Given the description of an element on the screen output the (x, y) to click on. 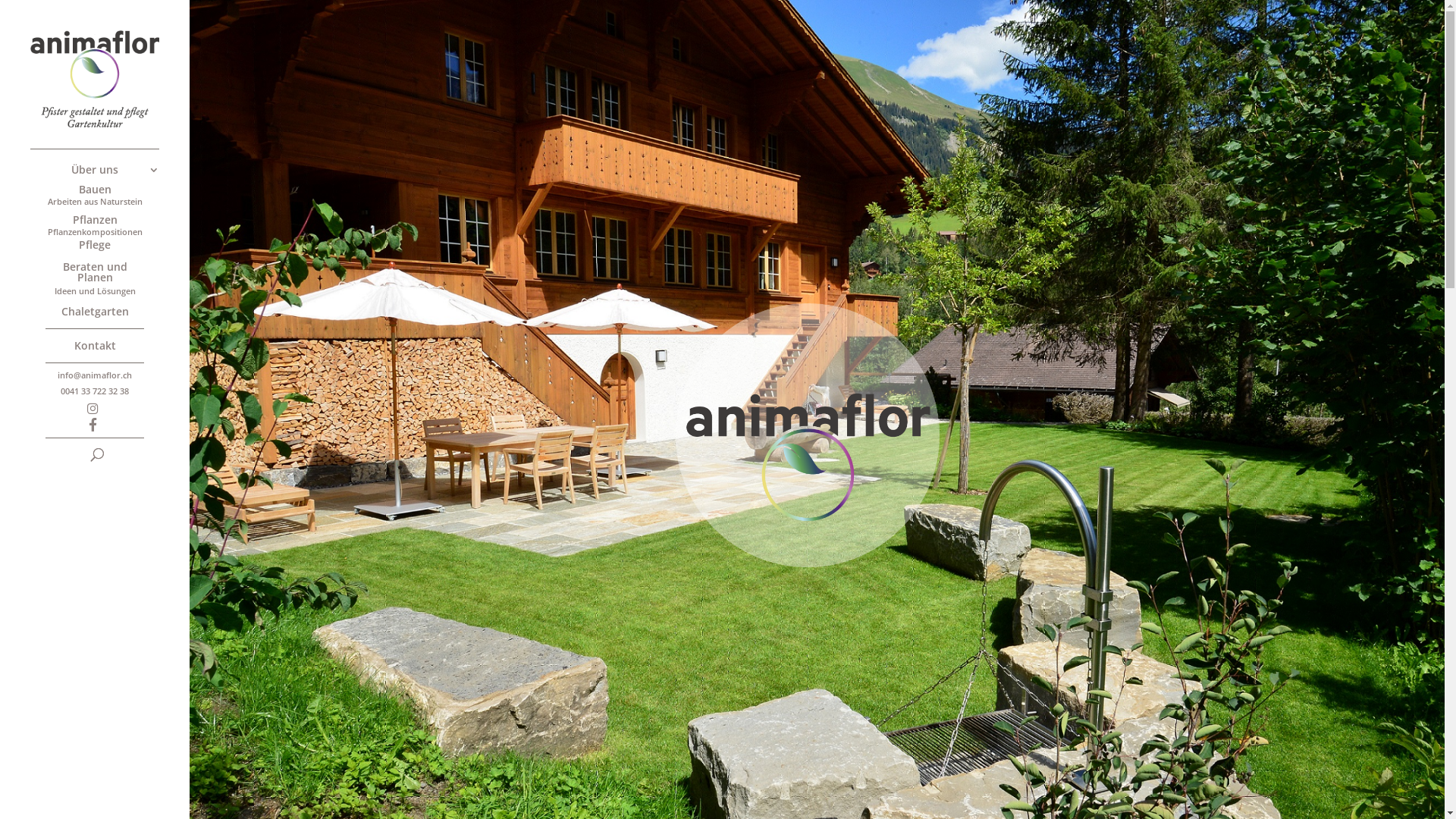
Chaletgarten Element type: text (109, 313)
info@animaflor.ch Element type: text (109, 376)
Pflege Element type: text (109, 246)
0041 33 722 32 38 Element type: text (109, 392)
Beraten und Planen Element type: text (109, 273)
Pflanzenkompositionen Element type: text (109, 233)
Pflanzen Element type: text (109, 220)
Kontakt Element type: text (109, 347)
Arbeiten aus Naturstein Element type: text (109, 203)
Bauen Element type: text (109, 190)
